Given the description of an element on the screen output the (x, y) to click on. 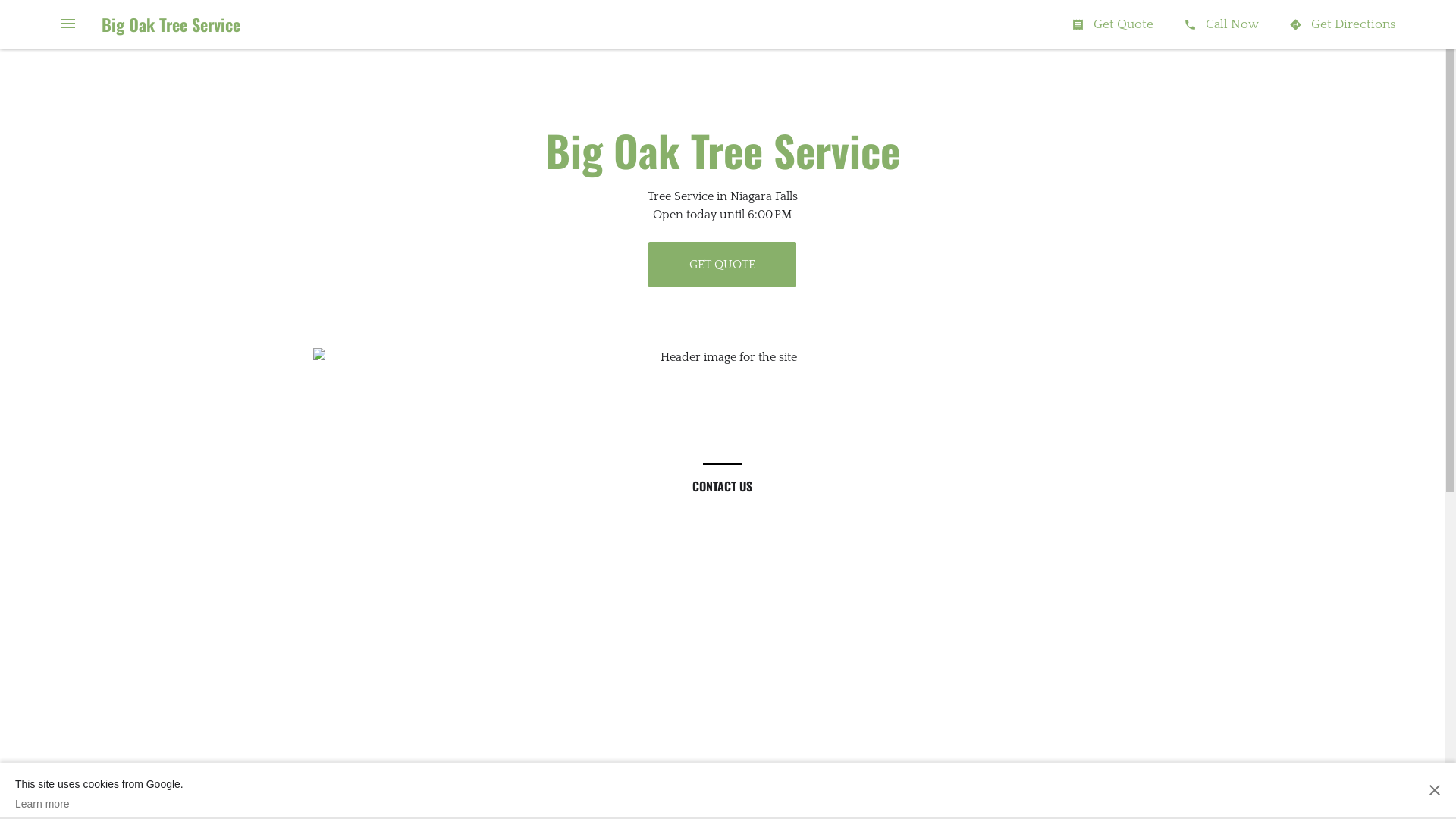
Learn more Element type: text (99, 803)
Big Oak Tree Service Element type: text (170, 24)
GET QUOTE Element type: text (722, 264)
